Given the description of an element on the screen output the (x, y) to click on. 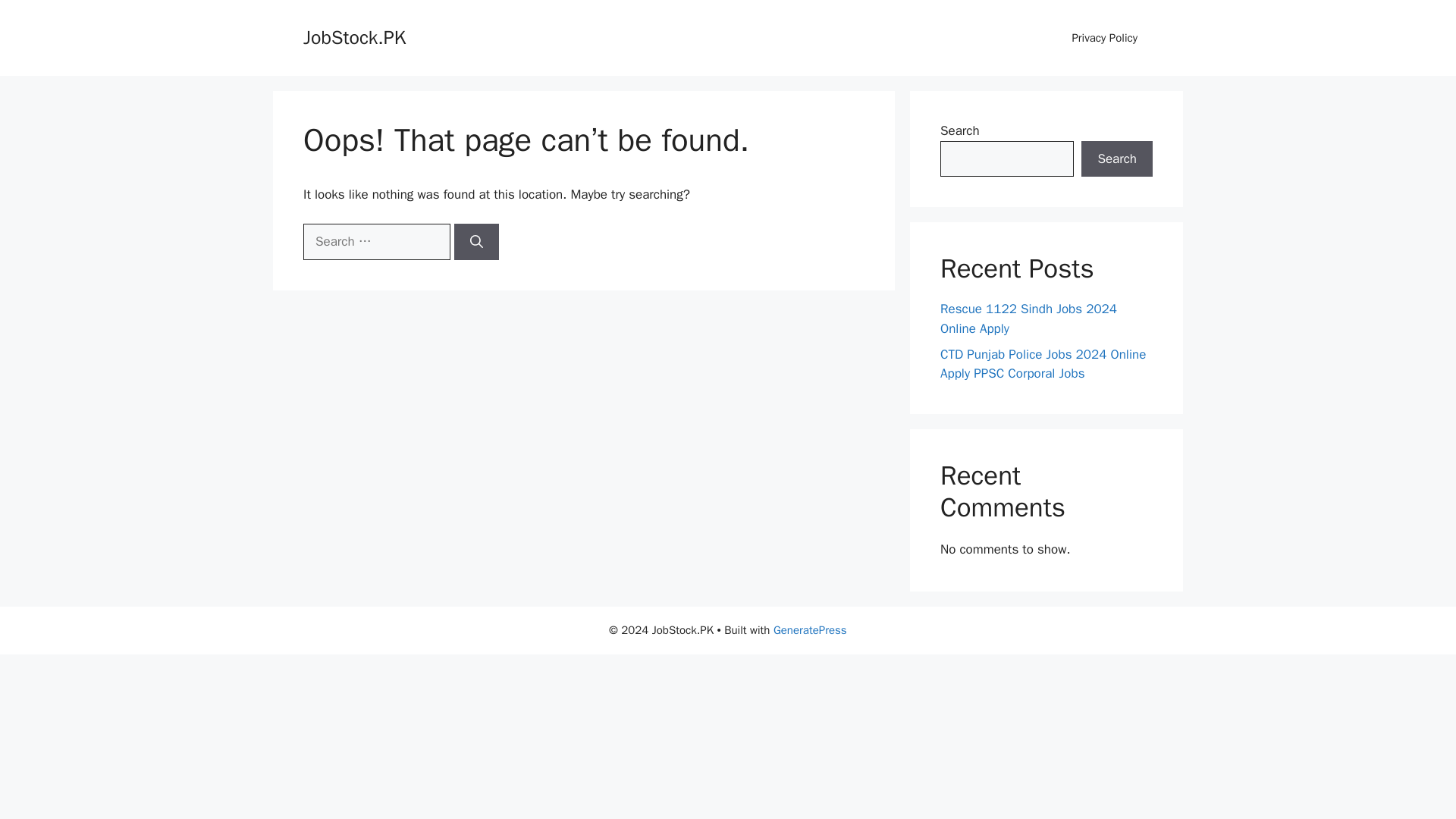
Rescue 1122 Sindh Jobs 2024 Online Apply (1028, 318)
GeneratePress (810, 630)
CTD Punjab Police Jobs 2024 Online Apply PPSC Corporal Jobs (1042, 363)
JobStock.PK (354, 37)
Privacy Policy (1105, 37)
Search for: (375, 241)
Search (1117, 158)
